Given the description of an element on the screen output the (x, y) to click on. 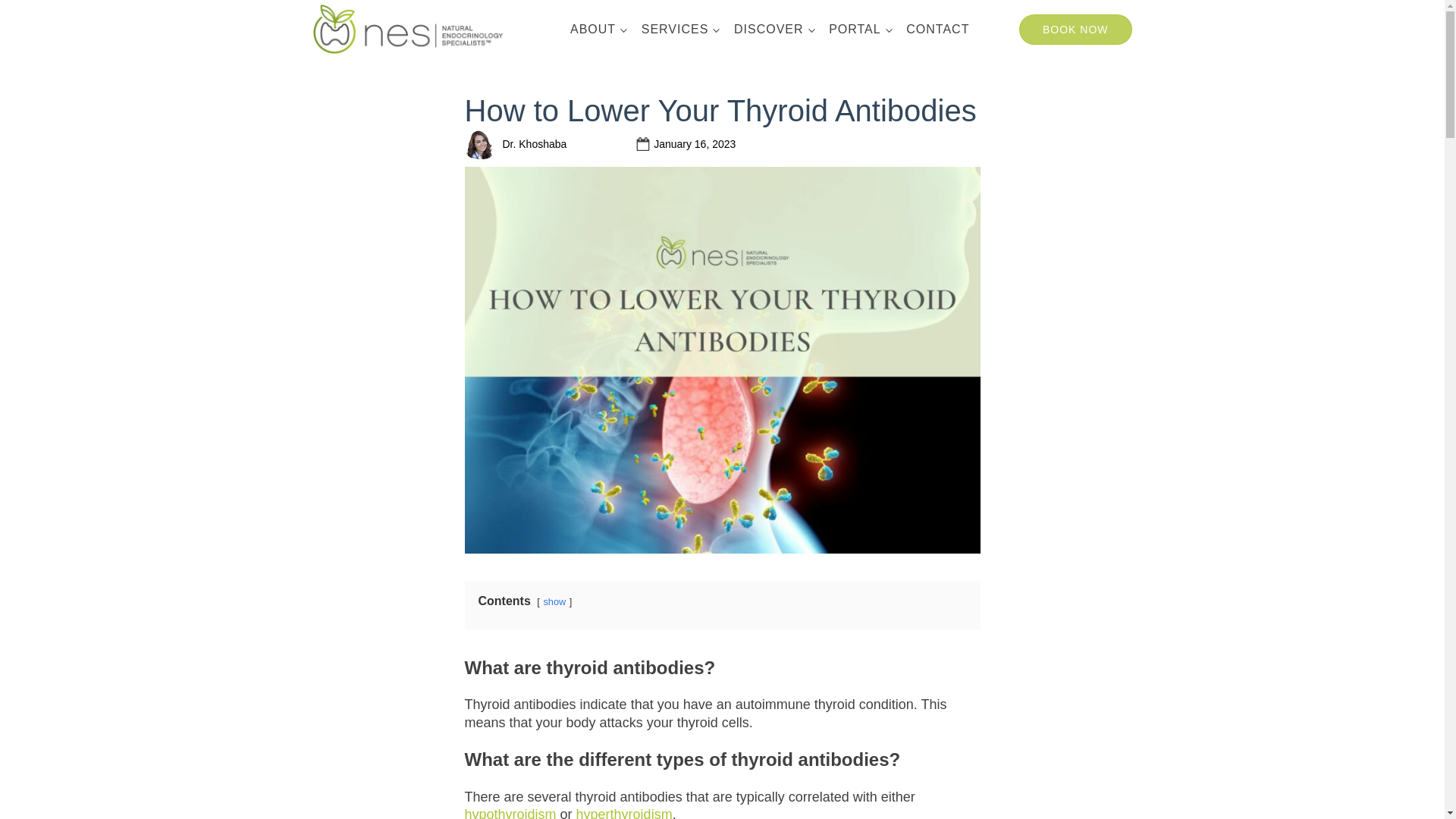
ABOUT (597, 29)
PORTAL (859, 29)
DISCOVER (773, 29)
CONTACT (937, 29)
show (554, 601)
SERVICES (679, 29)
BOOK NOW (1075, 29)
